Given the description of an element on the screen output the (x, y) to click on. 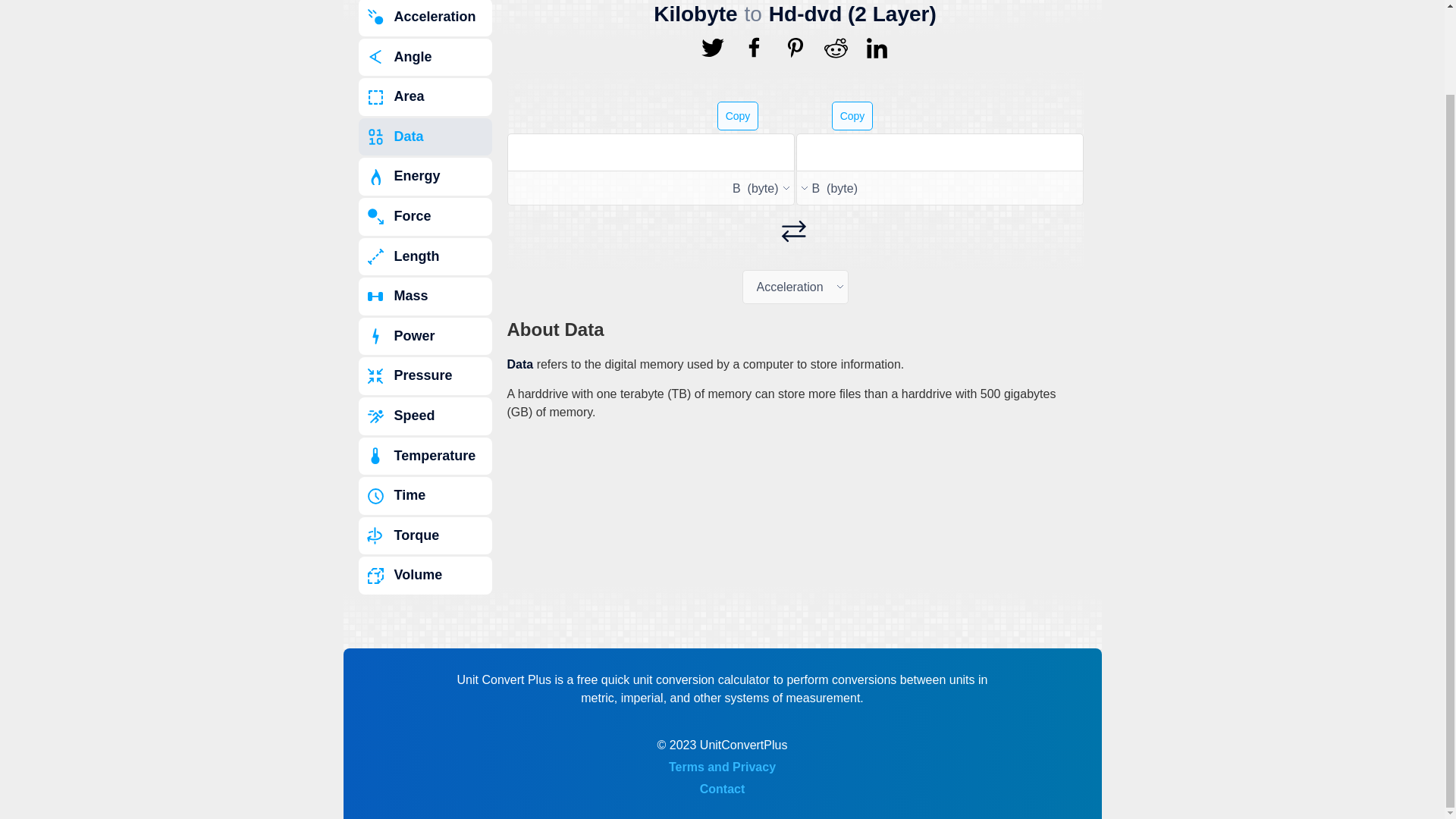
Length (425, 257)
Area (425, 96)
Speed (425, 415)
Data (425, 136)
Temperature (425, 456)
Mass (425, 296)
Contact (722, 788)
Power (425, 336)
Volume (425, 575)
Force (425, 216)
Angle (425, 57)
Acceleration (425, 18)
Time (425, 495)
Torque (425, 535)
Energy (425, 176)
